Given the description of an element on the screen output the (x, y) to click on. 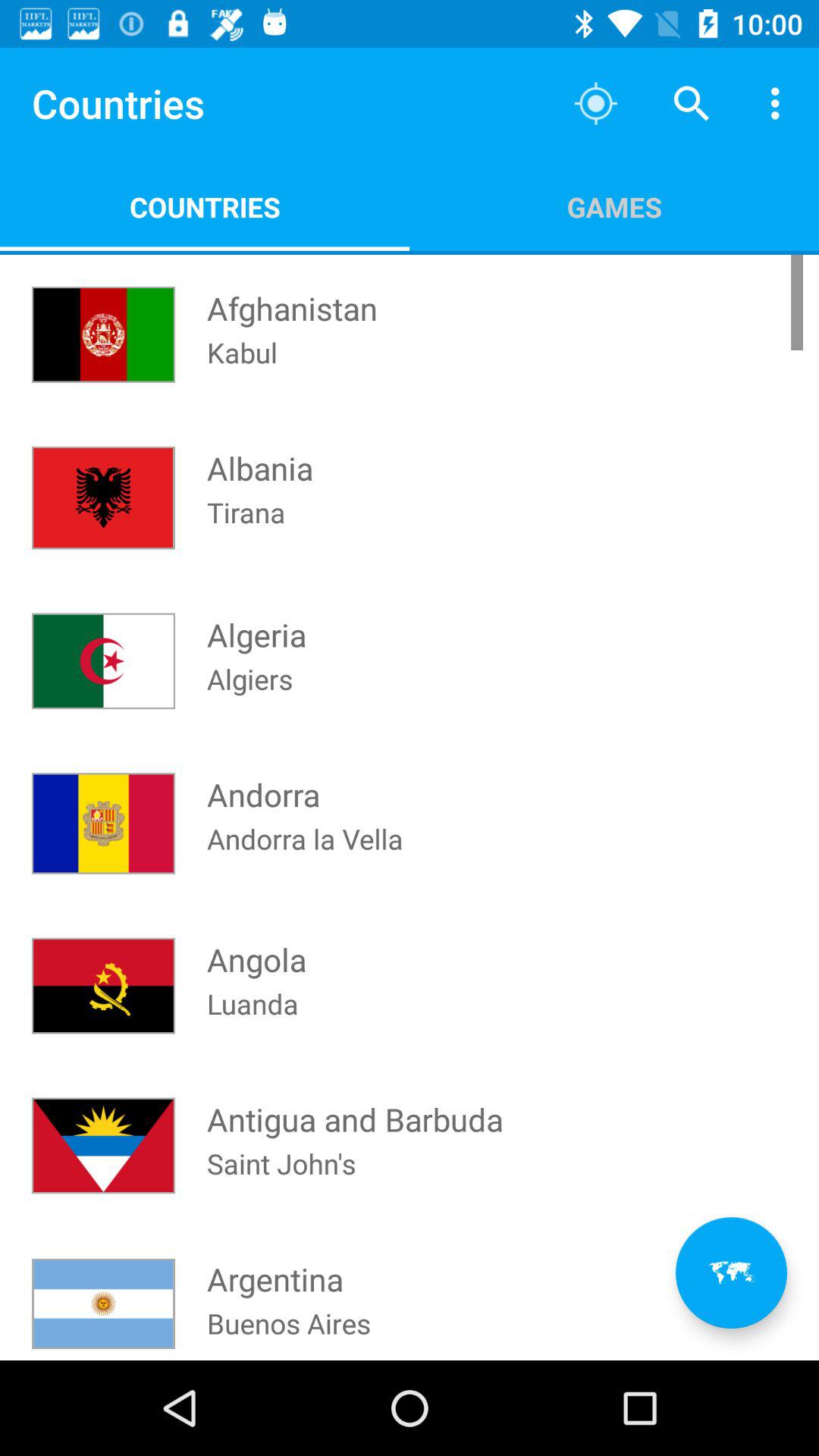
jump until albania item (260, 453)
